Given the description of an element on the screen output the (x, y) to click on. 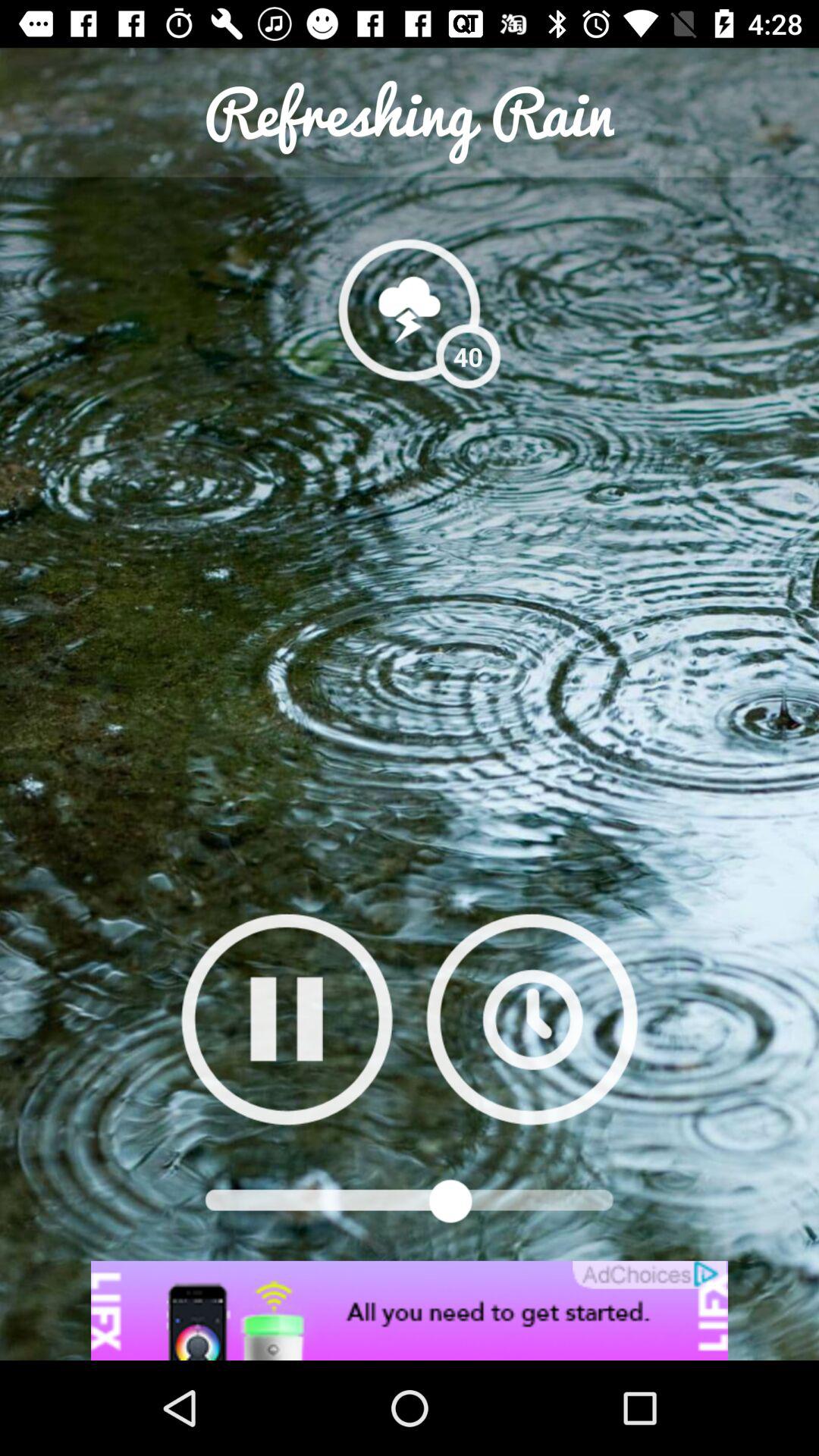
go to play (286, 1018)
